Given the description of an element on the screen output the (x, y) to click on. 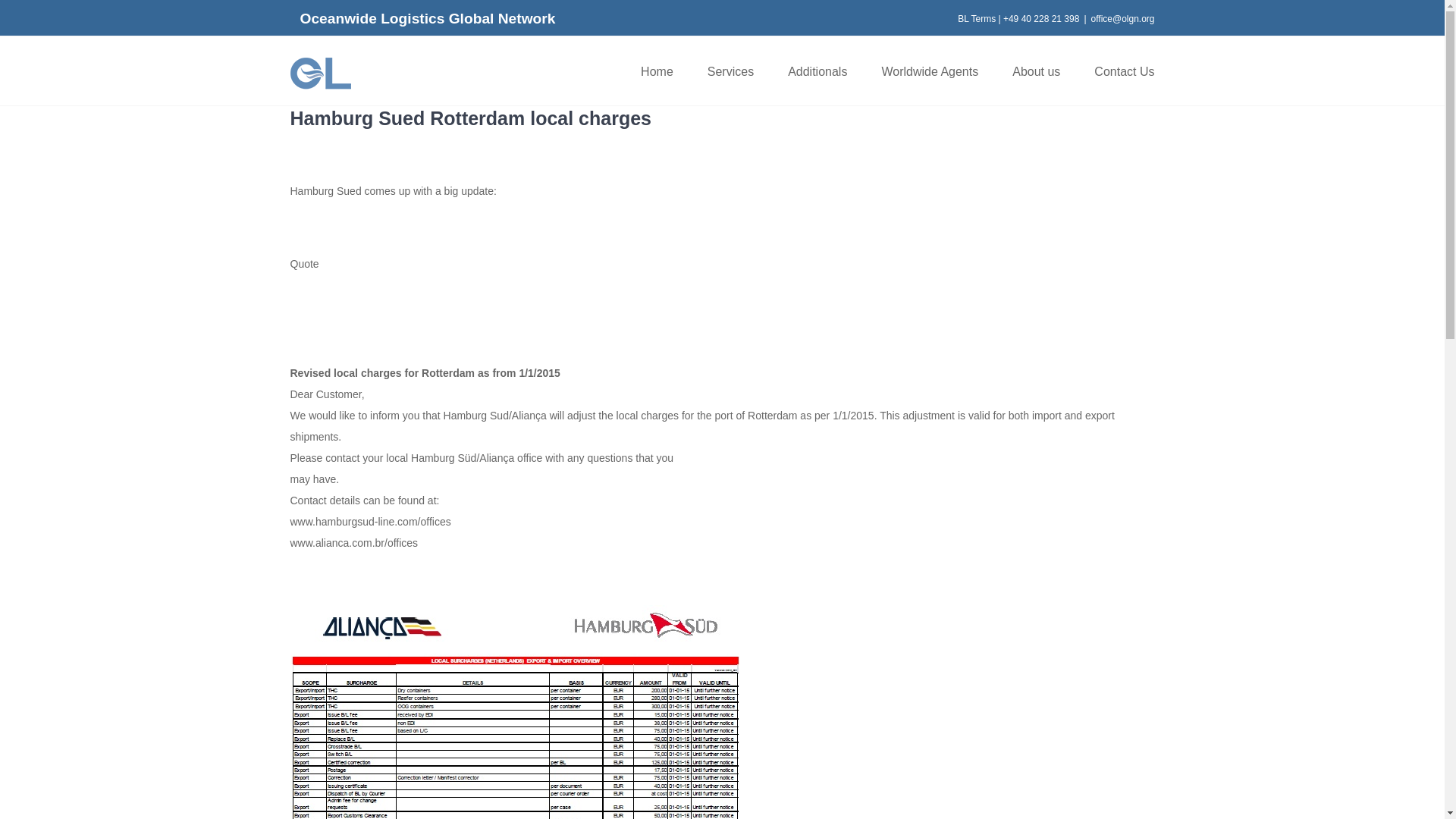
Worldwide Agents (929, 70)
BL Terms (976, 18)
Oceanwide Logistics Global Network (426, 19)
